Given the description of an element on the screen output the (x, y) to click on. 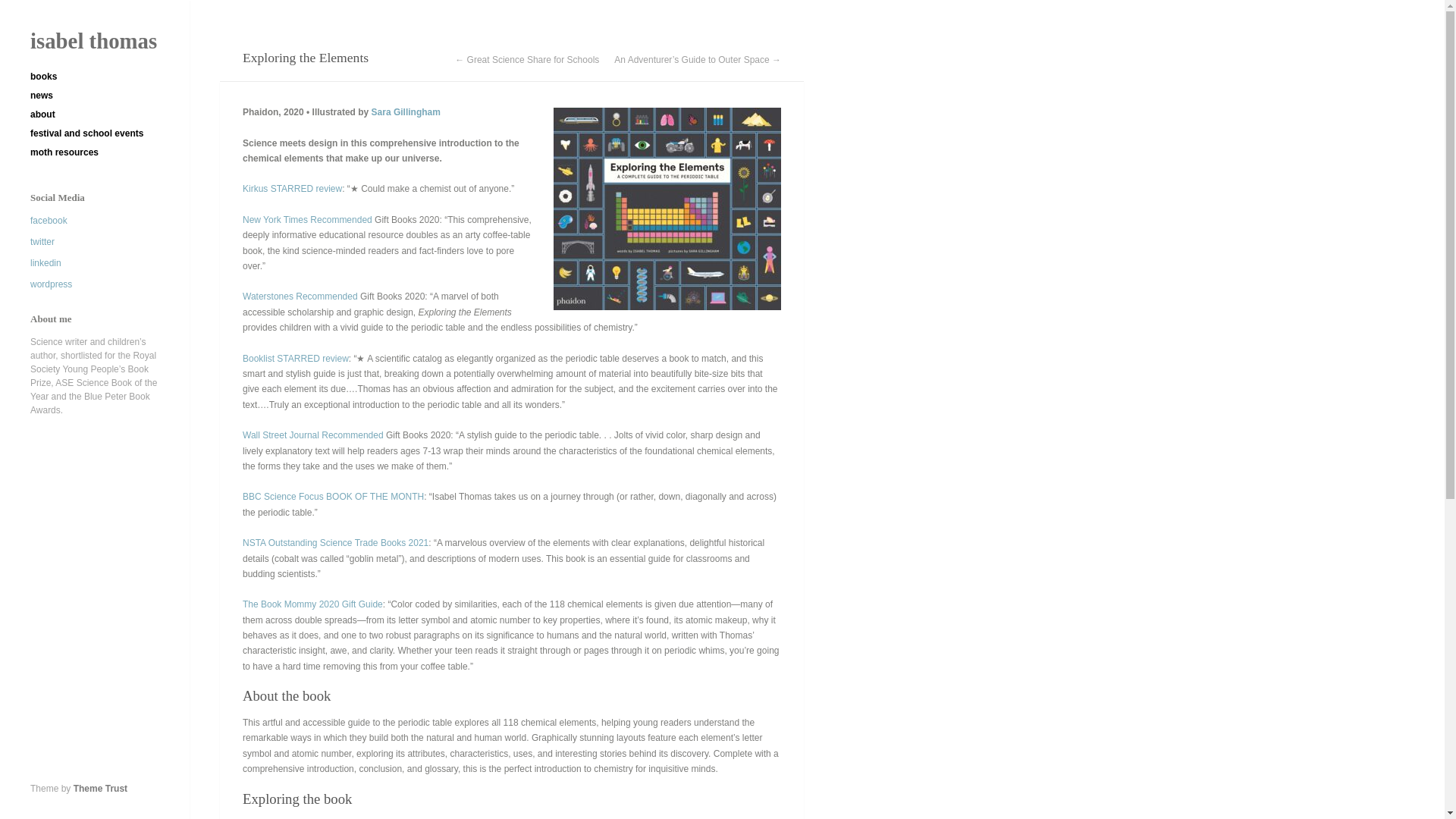
wordpress (50, 284)
Waterstones Recommended (300, 296)
facebook (48, 220)
BBC Science Focus BOOK OF THE MONTH (333, 496)
New York Times Recommended (307, 219)
isabel thomas (93, 40)
twitter (42, 241)
Sara Gillingham (406, 112)
books (96, 76)
moth resources (96, 152)
Wall Street Journal Recommended (313, 434)
linkedin (45, 262)
The Book Mommy 2020 Gift Guide (312, 603)
Theme Trust (101, 787)
Kirkus STARRED review (292, 188)
